Given the description of an element on the screen output the (x, y) to click on. 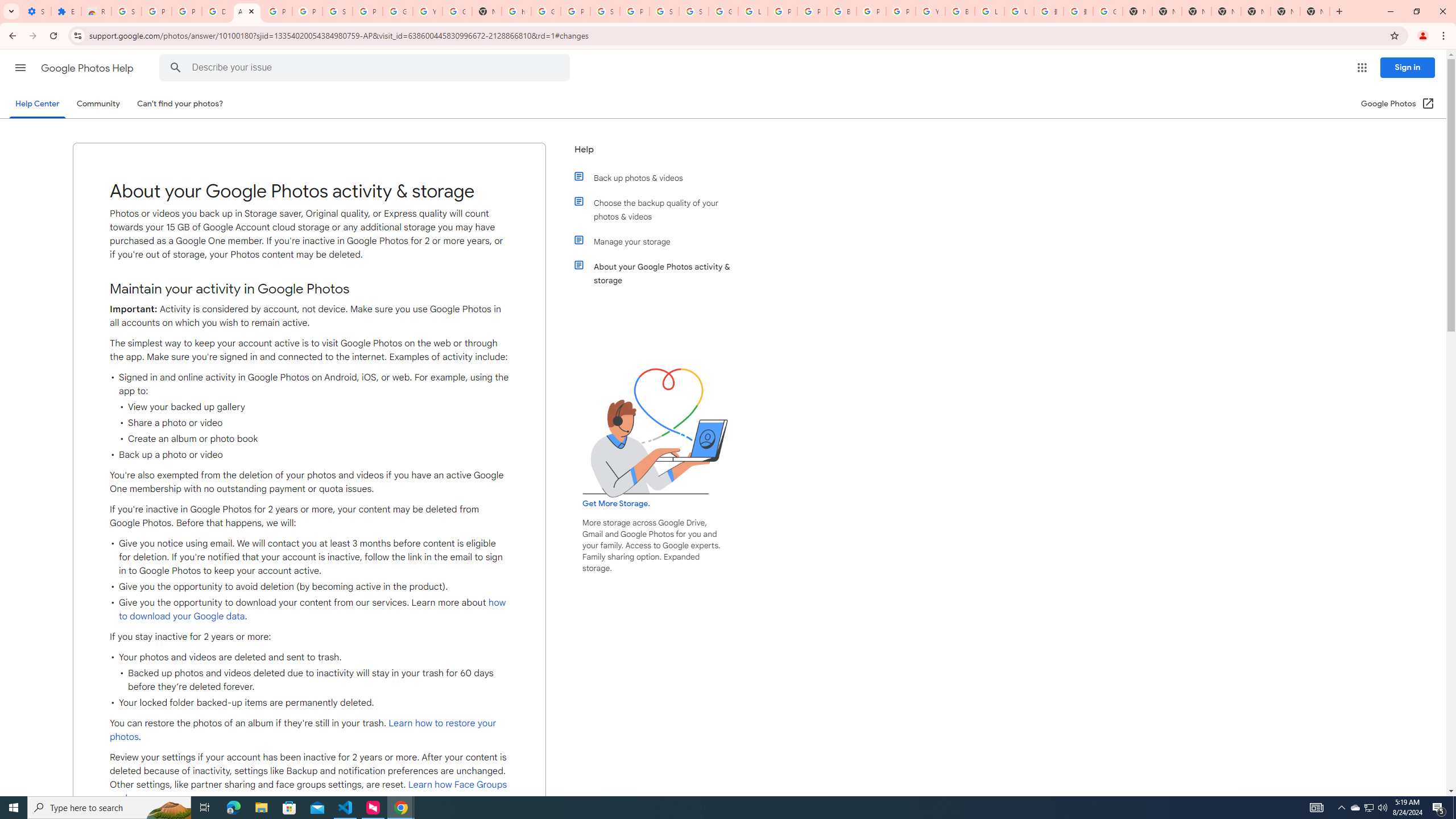
Google Photos (Open in a new window) (1397, 103)
Reviews: Helix Fruit Jump Arcade Game (95, 11)
Choose the backup quality of your photos & videos (661, 209)
Manage your storage (661, 241)
